Given the description of an element on the screen output the (x, y) to click on. 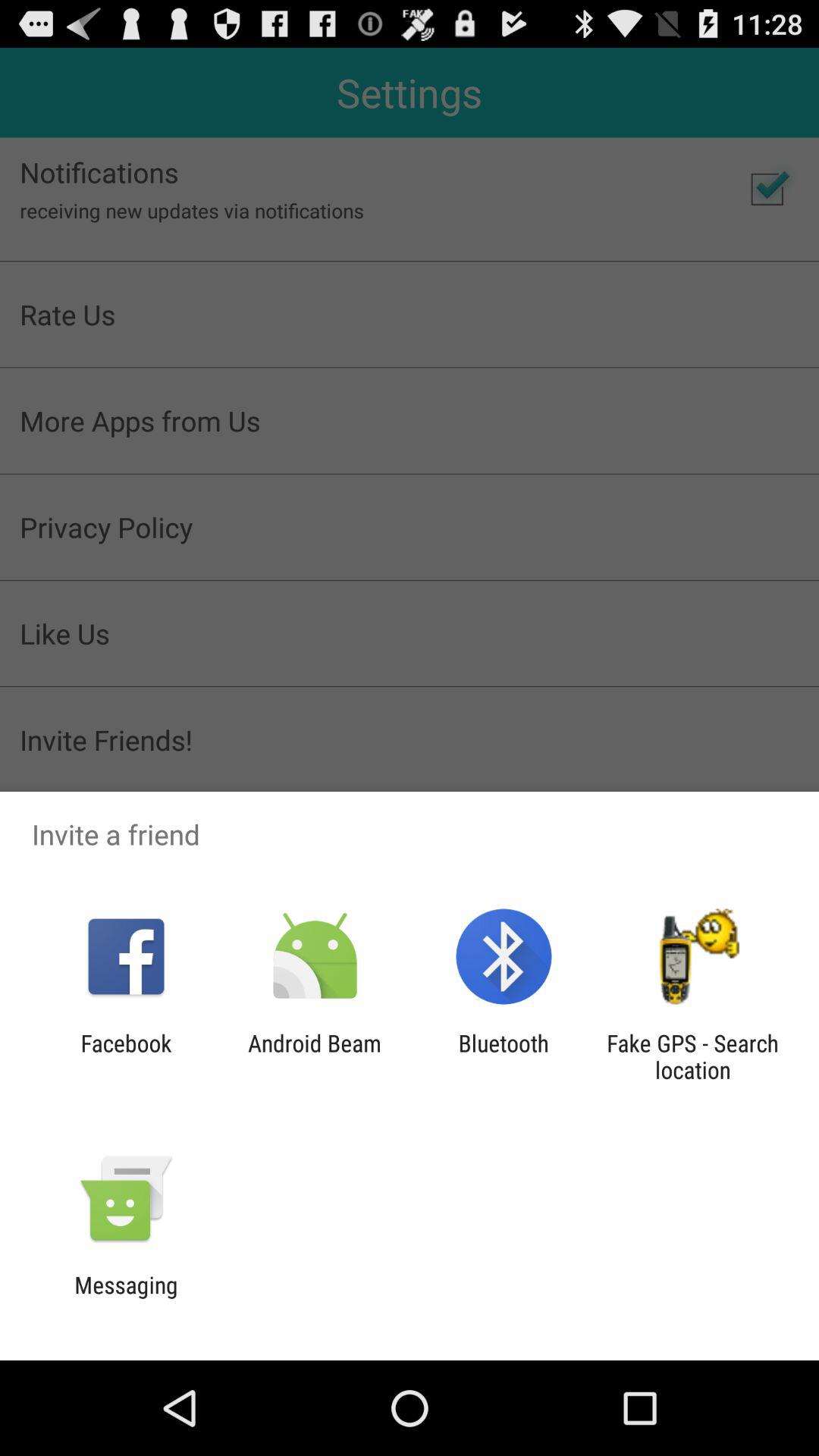
click fake gps search (692, 1056)
